Given the description of an element on the screen output the (x, y) to click on. 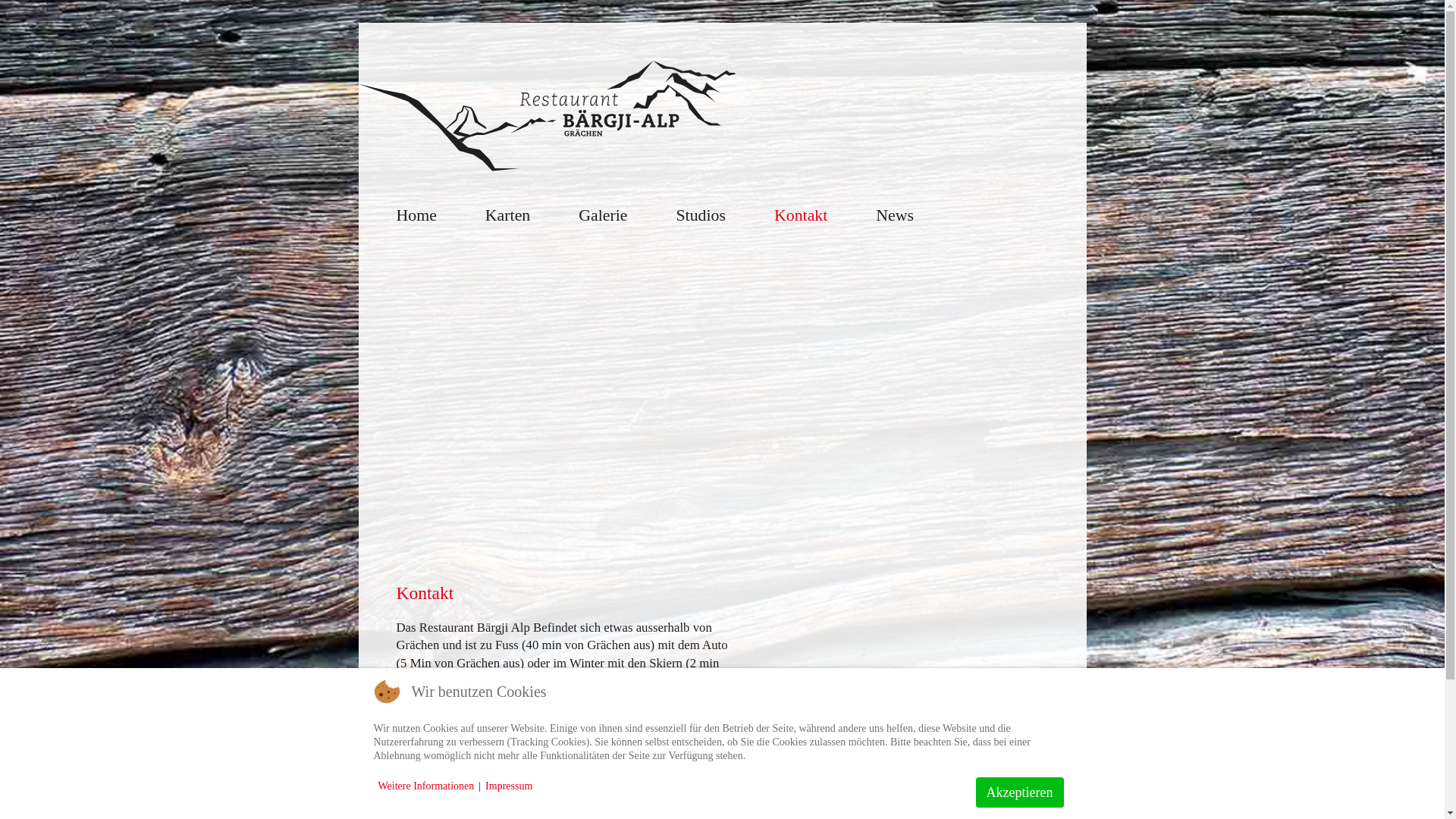
Weitere Informationen Element type: text (425, 785)
Impressum Element type: text (508, 785)
Studios Element type: text (700, 215)
Kontakt Element type: text (800, 215)
Akzeptieren Element type: text (1019, 792)
mail@baergji-alp.ch Element type: text (447, 794)
News Element type: text (894, 215)
Home Element type: text (415, 215)
Karten Element type: text (507, 215)
Galerie Element type: text (602, 215)
